Given the description of an element on the screen output the (x, y) to click on. 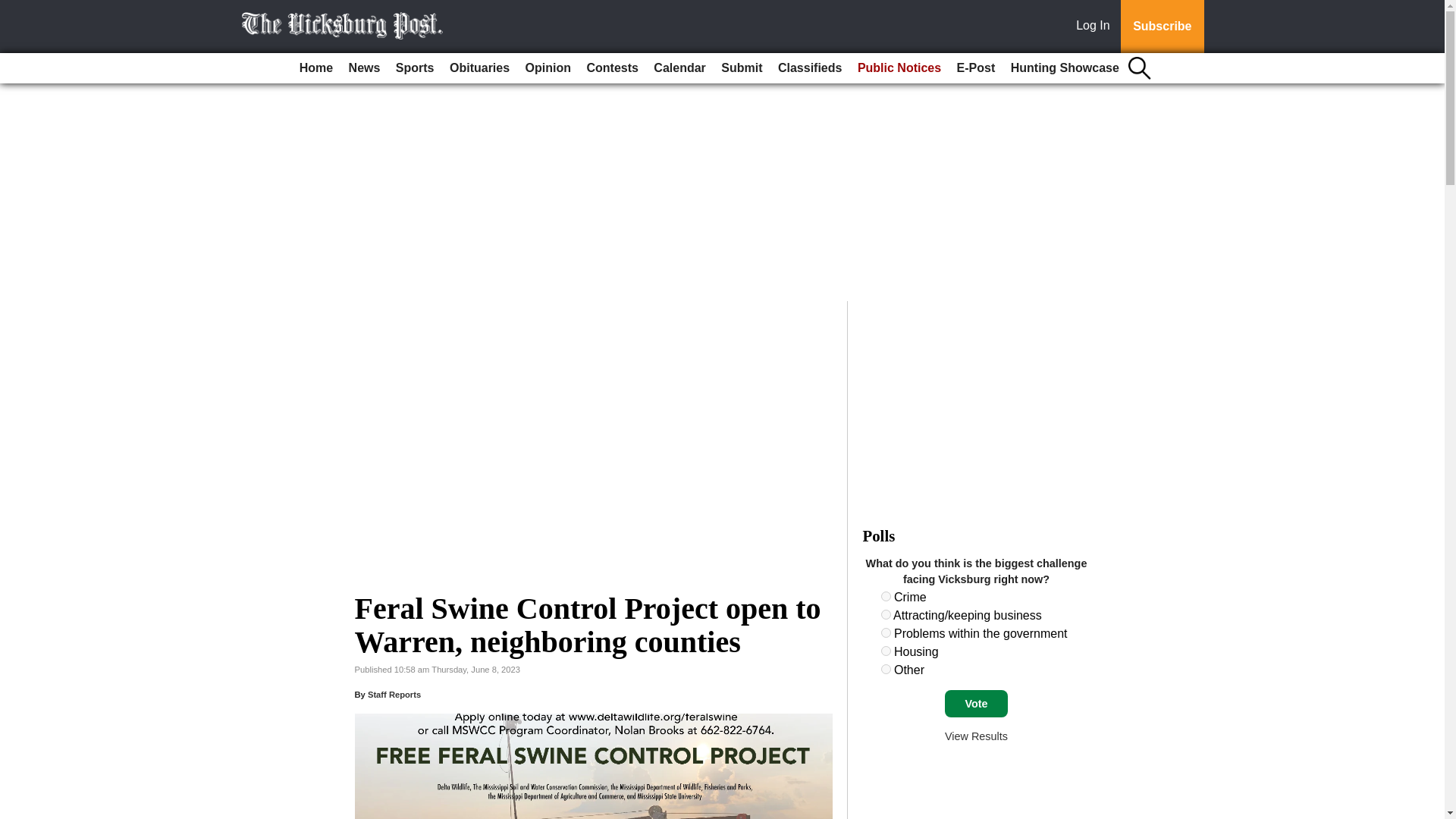
Obituaries (479, 68)
Go (13, 9)
Staff Reports (394, 694)
   Vote    (975, 703)
View Results Of This Poll (975, 736)
E-Post (975, 68)
Subscribe (1162, 26)
Hunting Showcase (1064, 68)
Sports (415, 68)
599 (885, 633)
600 (885, 651)
601 (885, 669)
Log In (1095, 26)
News (364, 68)
Submit (741, 68)
